Given the description of an element on the screen output the (x, y) to click on. 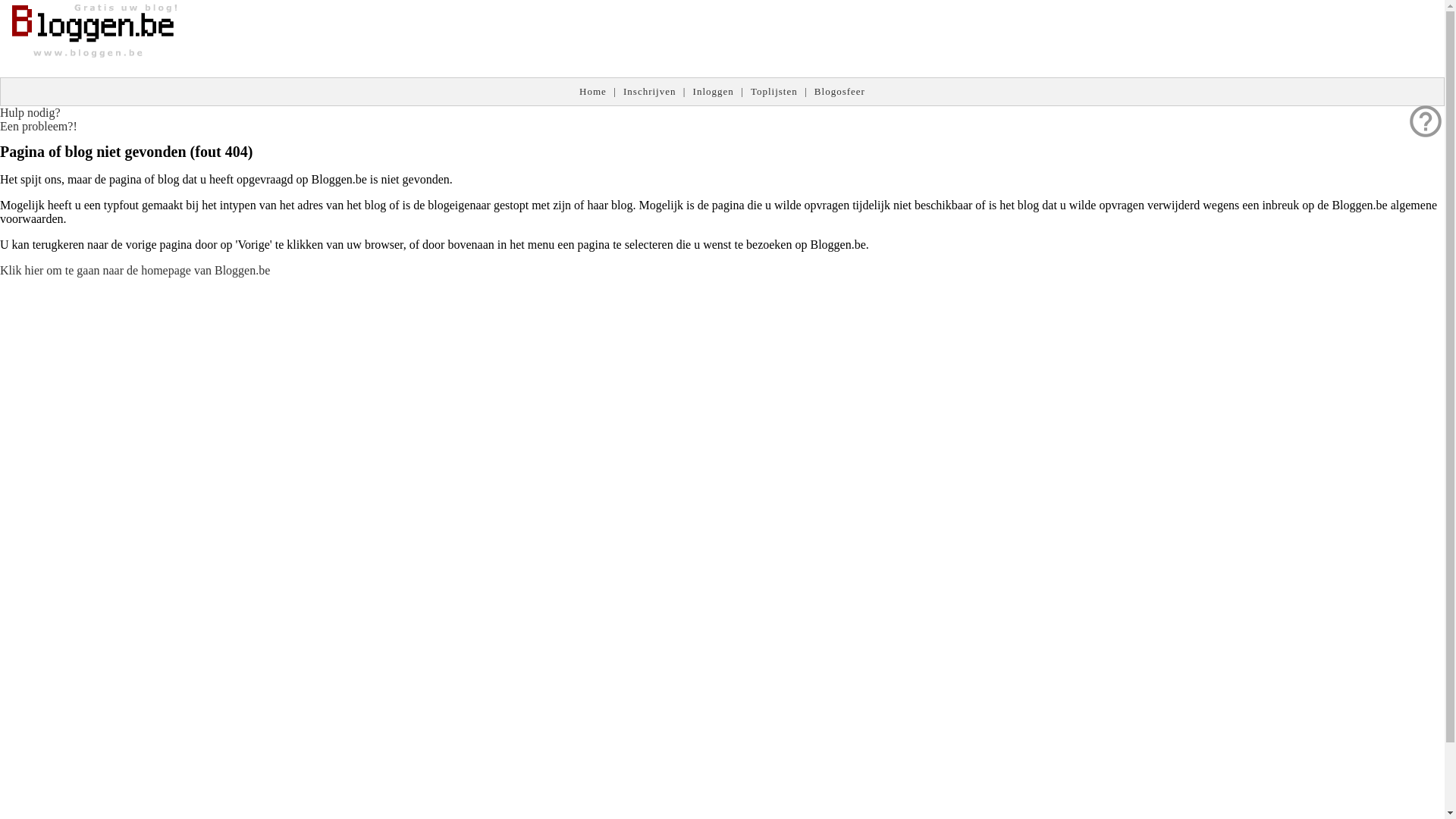
Home Element type: text (592, 91)
help_outline
Hulp nodig?
Een probleem?! Element type: text (38, 119)
Inloggen Element type: text (713, 91)
Klik hier om te gaan naar de homepage van Bloggen.be Element type: text (134, 269)
Blogosfeer Element type: text (839, 91)
Inschrijven Element type: text (649, 91)
Toplijsten Element type: text (773, 91)
